Given the description of an element on the screen output the (x, y) to click on. 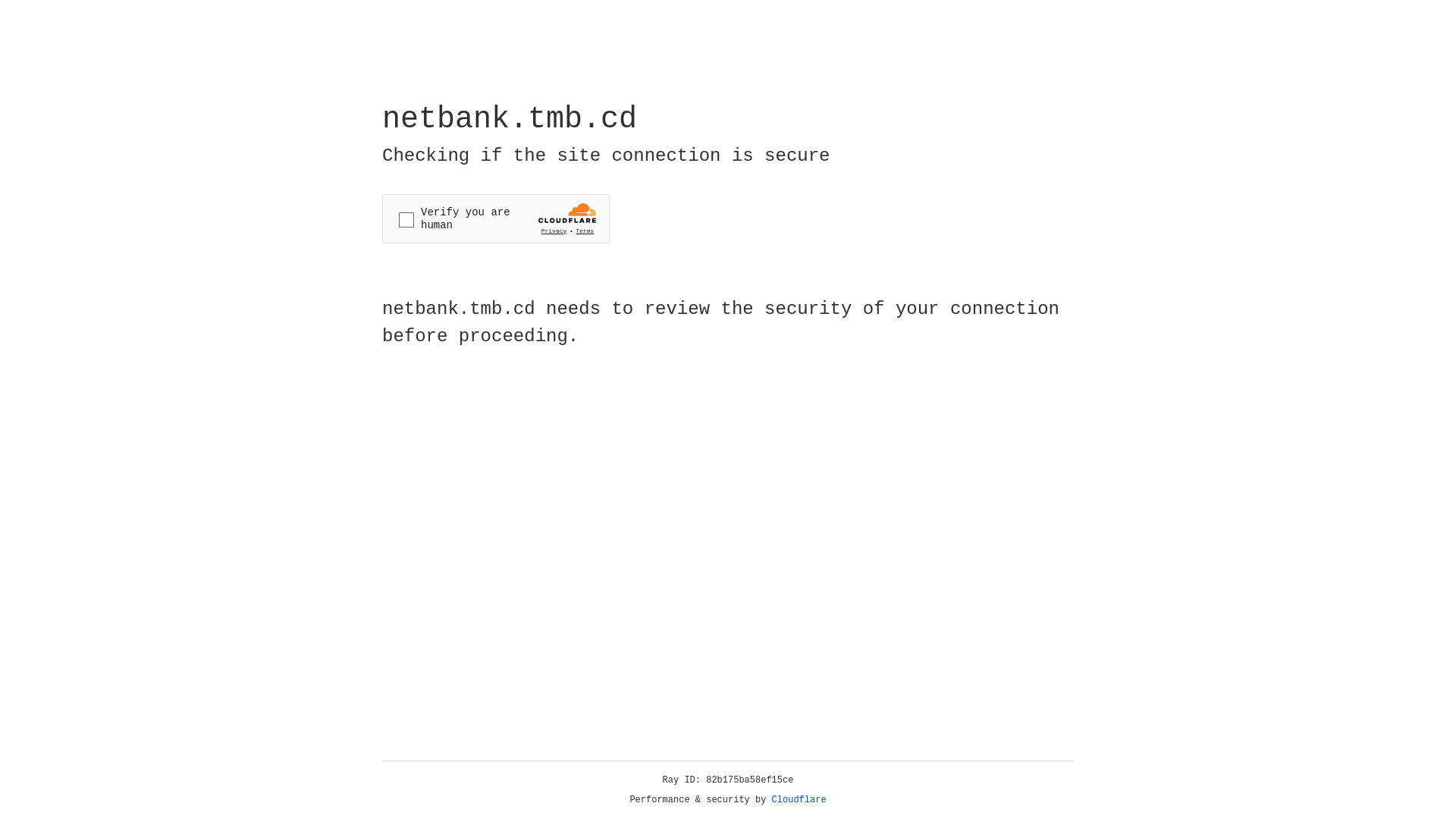
Cloudflare Element type: text (798, 799)
Widget containing a Cloudflare security challenge Element type: hover (495, 218)
